Given the description of an element on the screen output the (x, y) to click on. 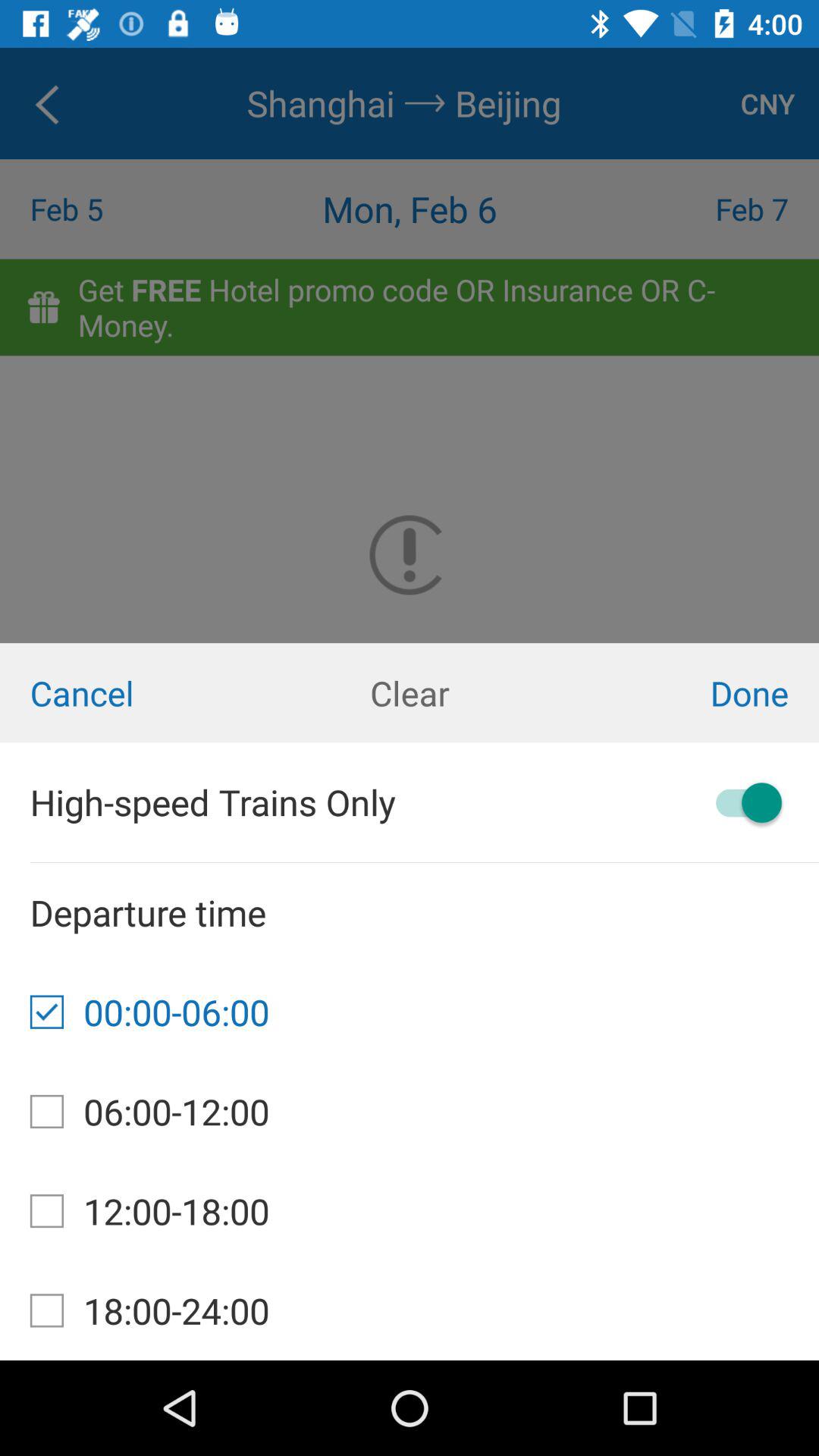
jump until the done item (682, 692)
